Given the description of an element on the screen output the (x, y) to click on. 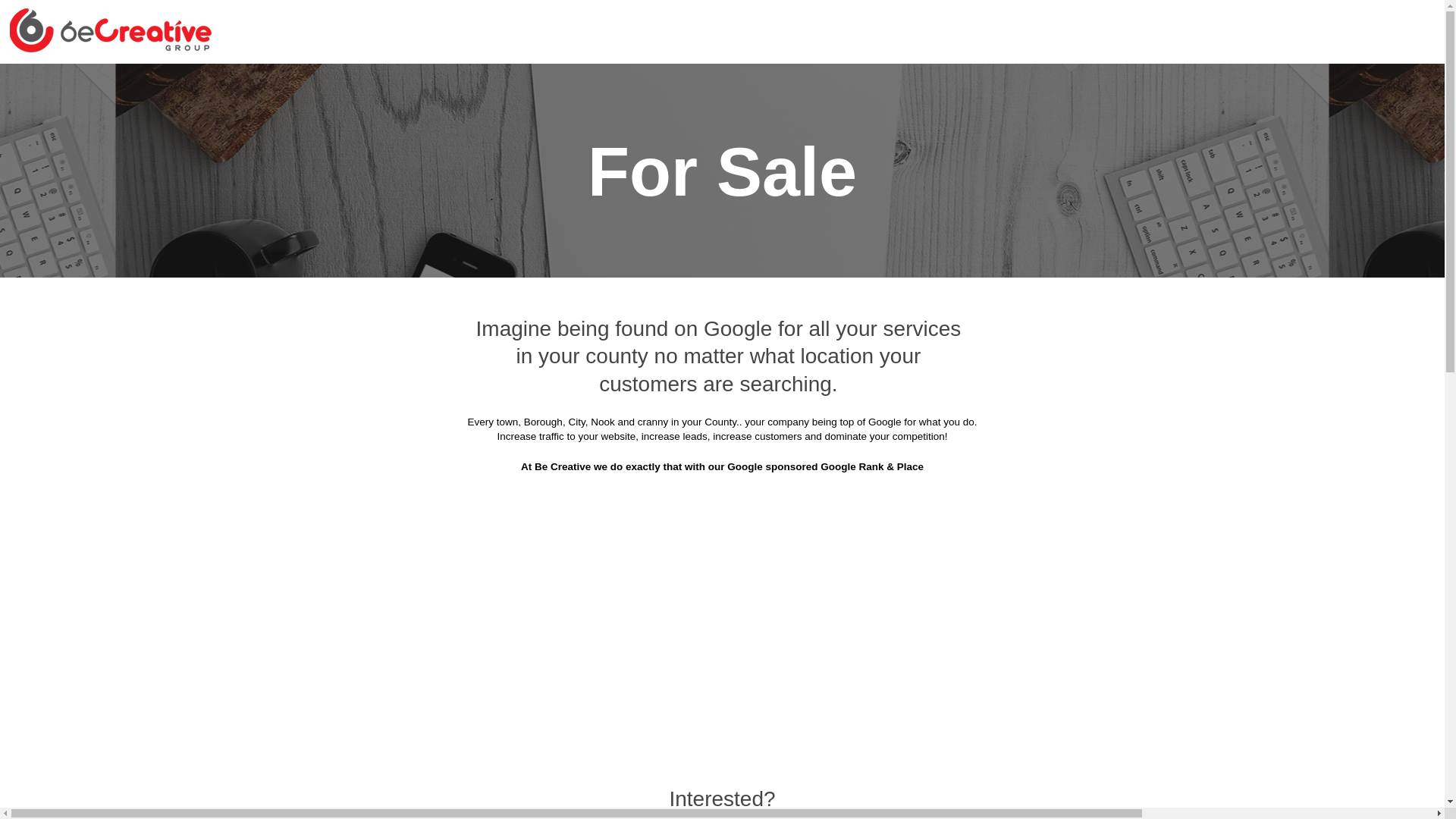
FIRE PROTECTION CHESHIRE (609, 52)
fire extinguisher (955, 321)
